Given the description of an element on the screen output the (x, y) to click on. 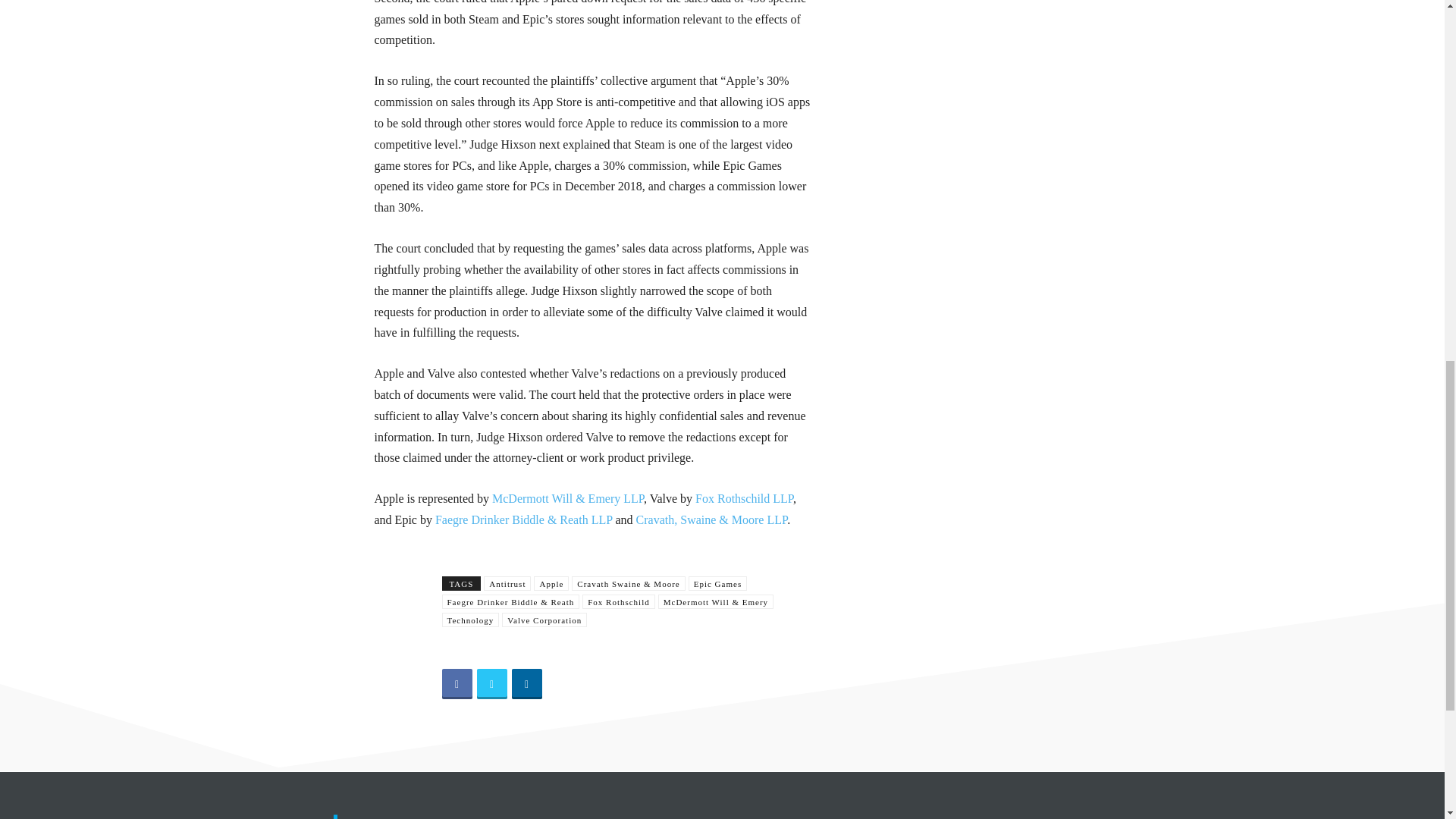
LawStreetMediaLogo (357, 816)
Facebook (456, 684)
Linkedin (526, 684)
Twitter (491, 684)
Fox Rothschild LLP (743, 498)
